Given the description of an element on the screen output the (x, y) to click on. 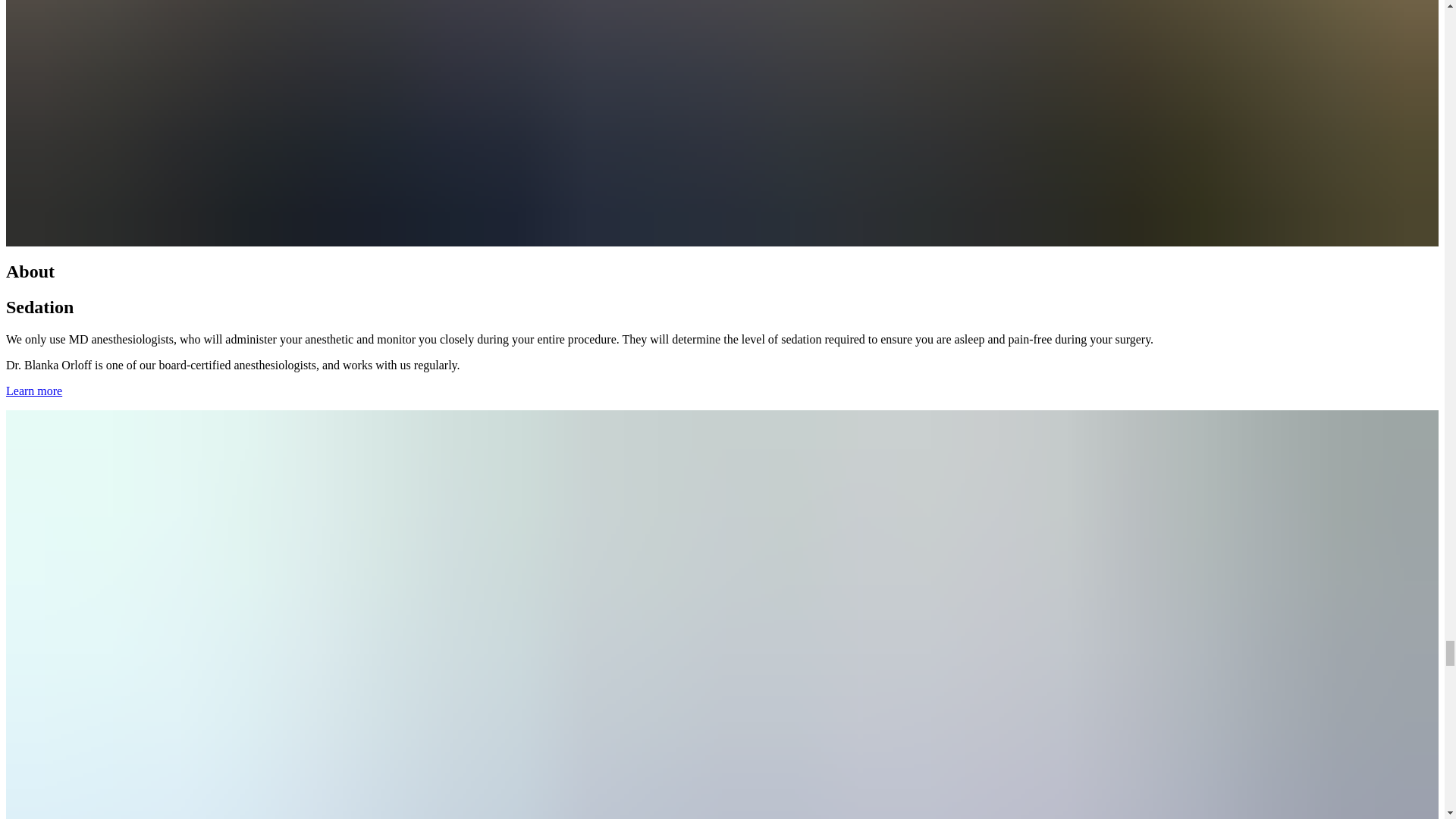
Learn more (33, 390)
